Given the description of an element on the screen output the (x, y) to click on. 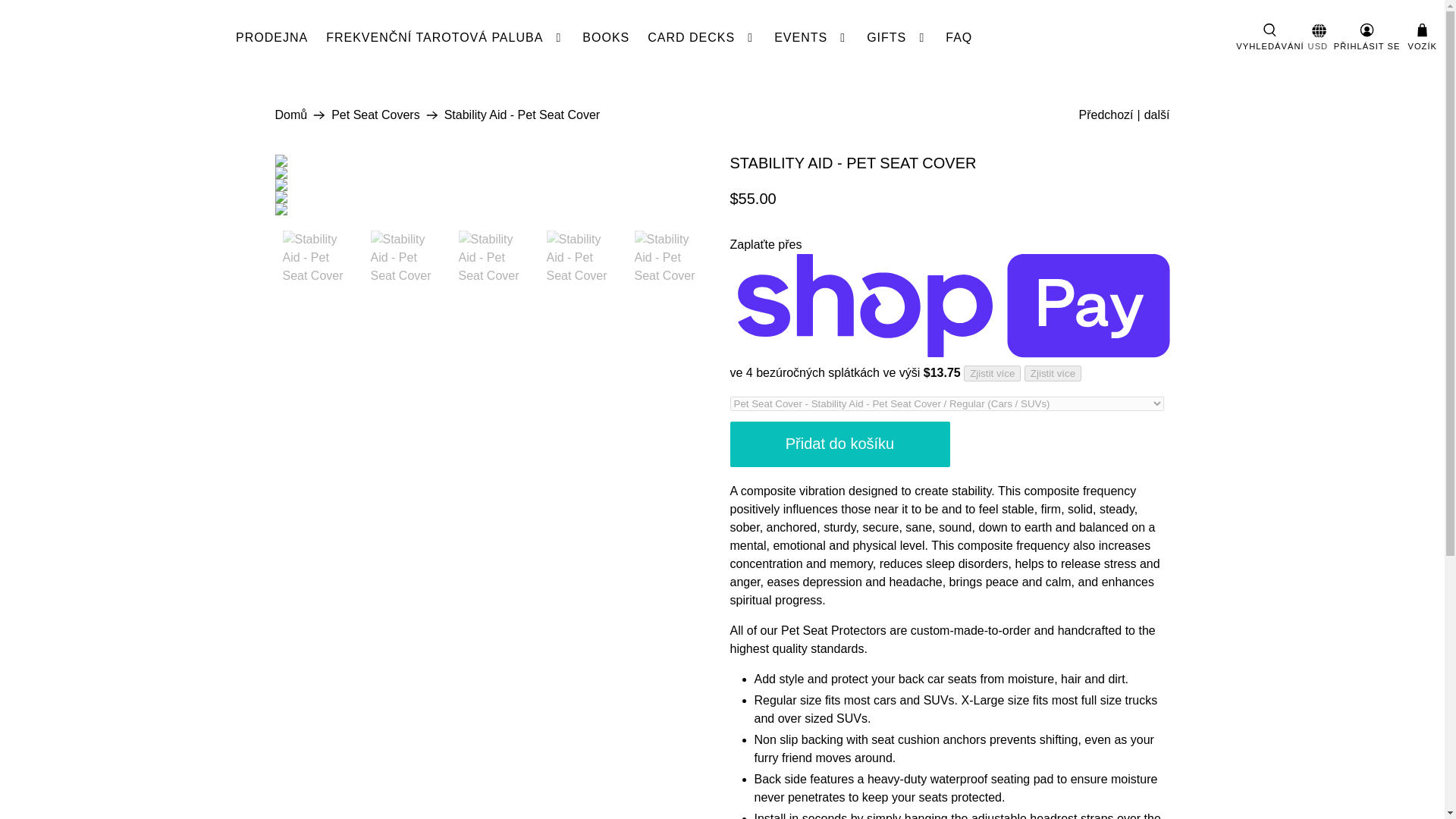
Teal Swan Shop (116, 37)
EVENTS (811, 37)
CARD DECKS (702, 37)
PRODEJNA (272, 37)
Teal Swan Shop (291, 114)
Pet Seat Covers (375, 114)
FAQ (958, 37)
BOOKS (606, 37)
GIFTS (896, 37)
